Given the description of an element on the screen output the (x, y) to click on. 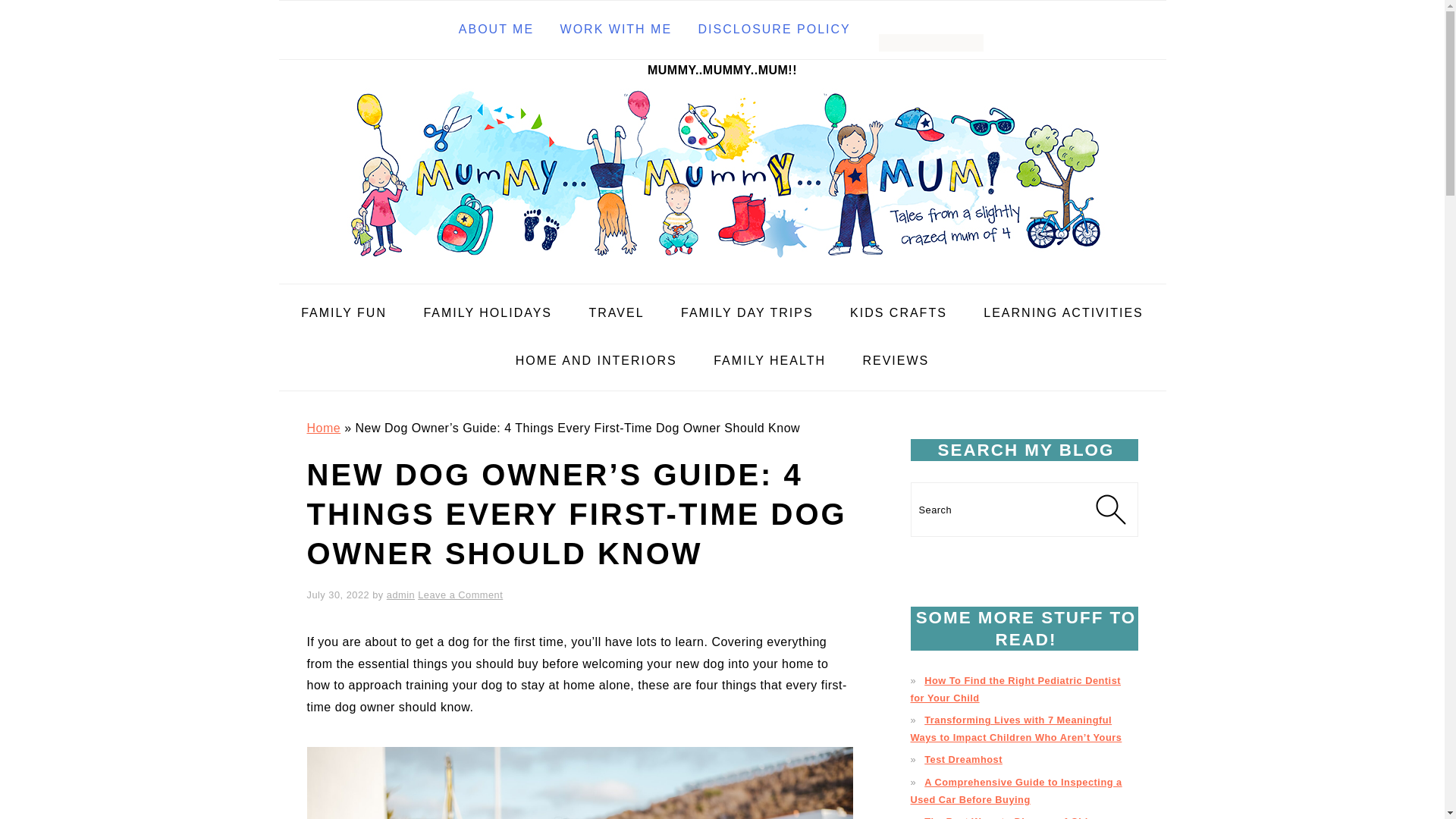
Test Dreamhost (963, 758)
KIDS CRAFTS (898, 313)
LEARNING ACTIVITIES (1063, 313)
DISCLOSURE POLICY (774, 29)
FAMILY HEALTH (769, 360)
Home (322, 427)
WORK WITH ME (616, 29)
ABOUT ME (496, 29)
FAMILY DAY TRIPS (747, 313)
